Given the description of an element on the screen output the (x, y) to click on. 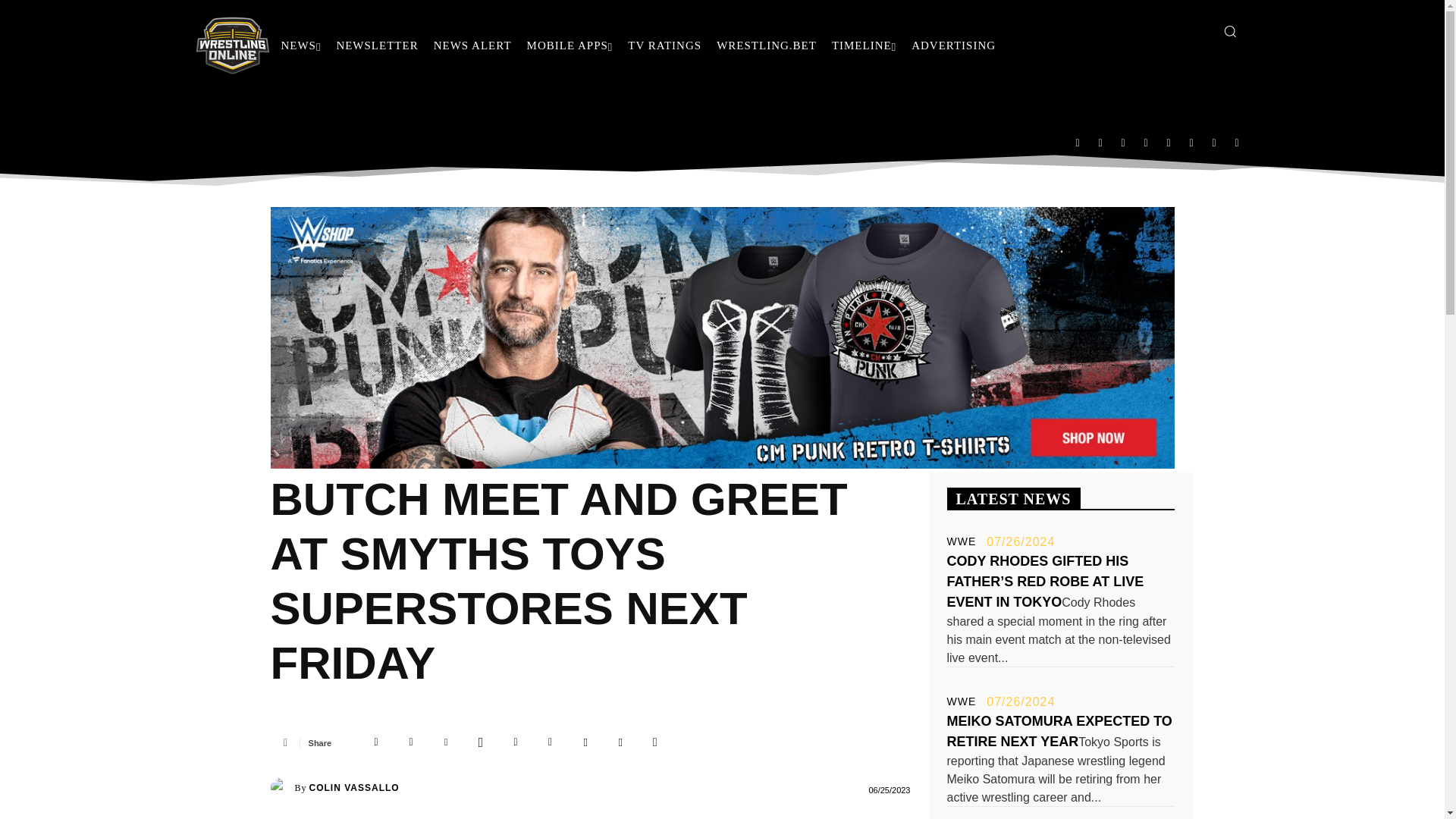
Mail (1123, 141)
RSS (1145, 141)
Instagram (1100, 141)
NEWS (301, 44)
Facebook (1077, 141)
